Given the description of an element on the screen output the (x, y) to click on. 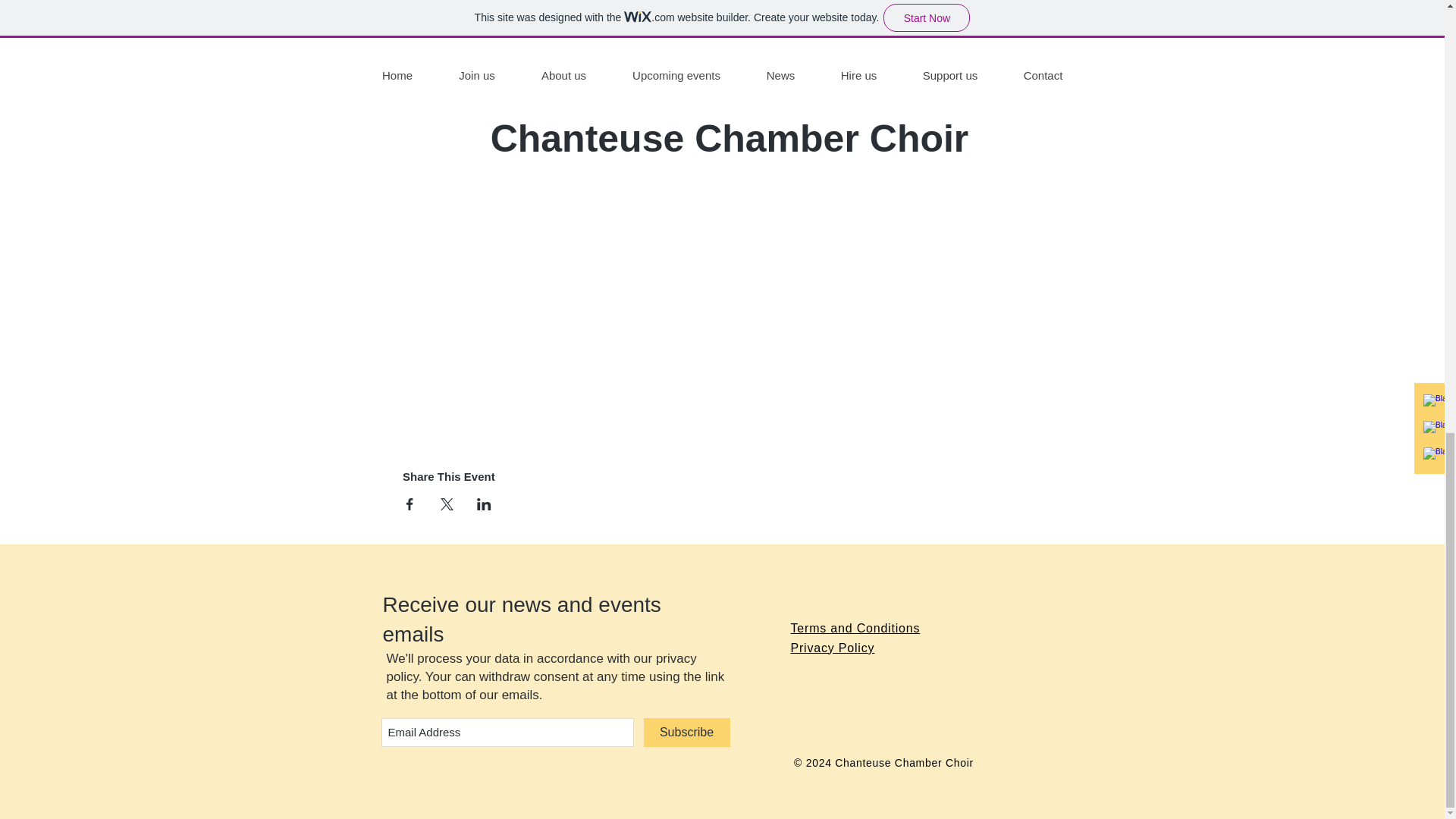
Terms and Conditions (855, 627)
Privacy Policy (832, 647)
Subscribe (686, 732)
